Given the description of an element on the screen output the (x, y) to click on. 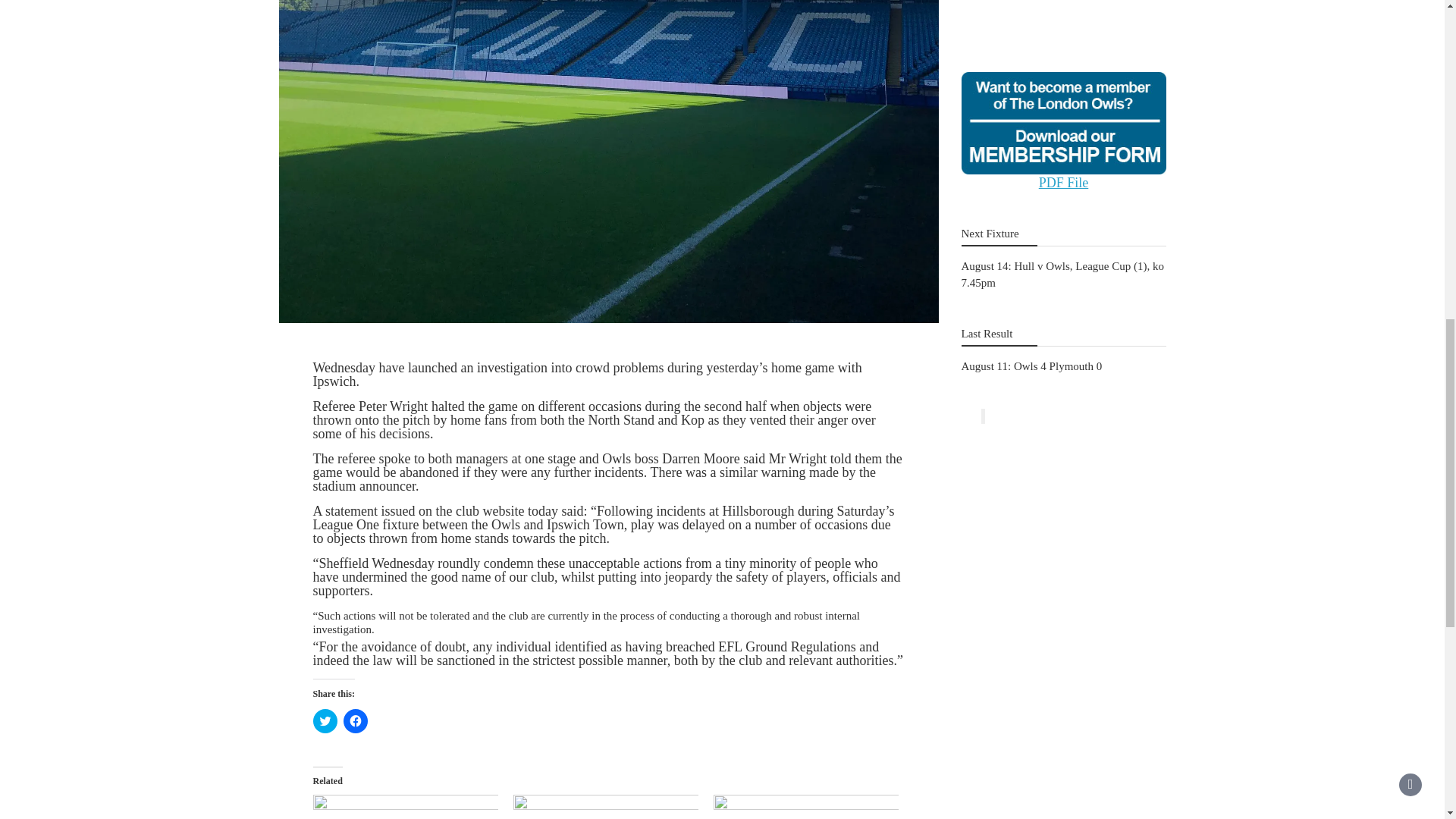
Johnson could be banned after FA charge (805, 806)
Click to share on Facebook (354, 721)
Owls grab point from leaders in late fightback (604, 806)
Click to share on Twitter (324, 721)
